Given the description of an element on the screen output the (x, y) to click on. 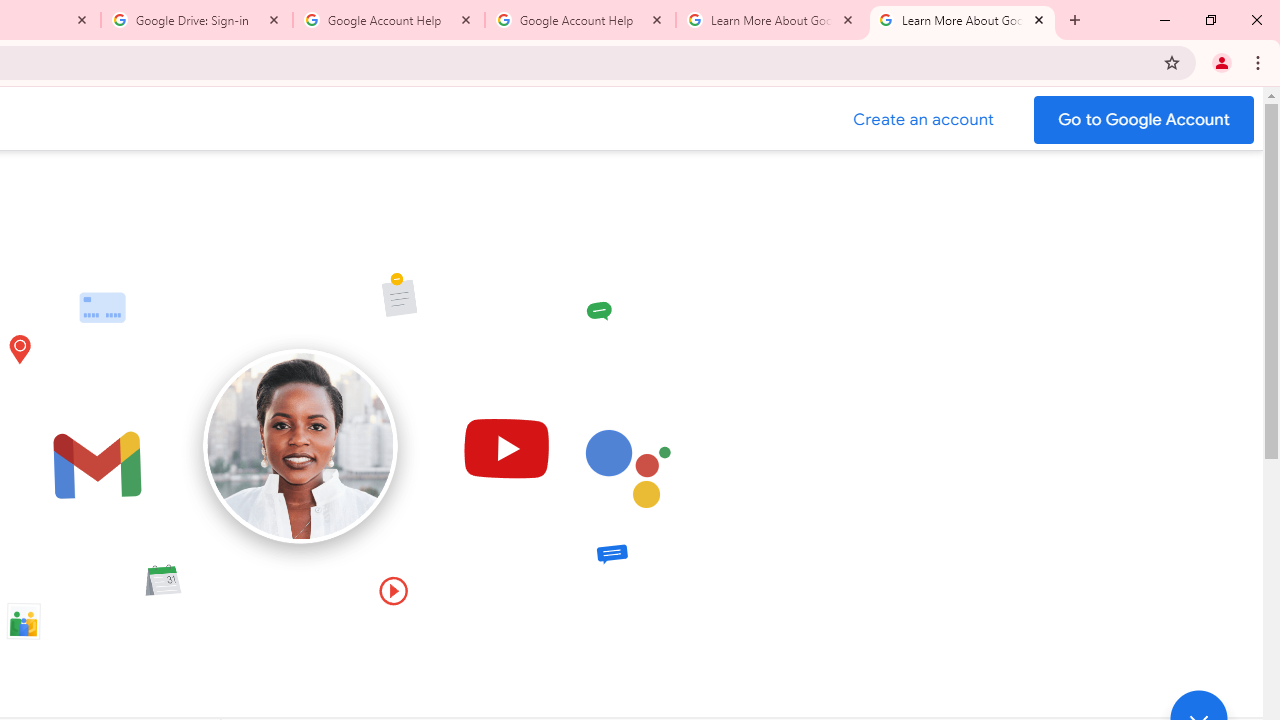
Go to your Google Account (1144, 119)
Google Account Help (580, 20)
Google Account Help (389, 20)
Create a Google Account (923, 119)
Google Drive: Sign-in (197, 20)
